Given the description of an element on the screen output the (x, y) to click on. 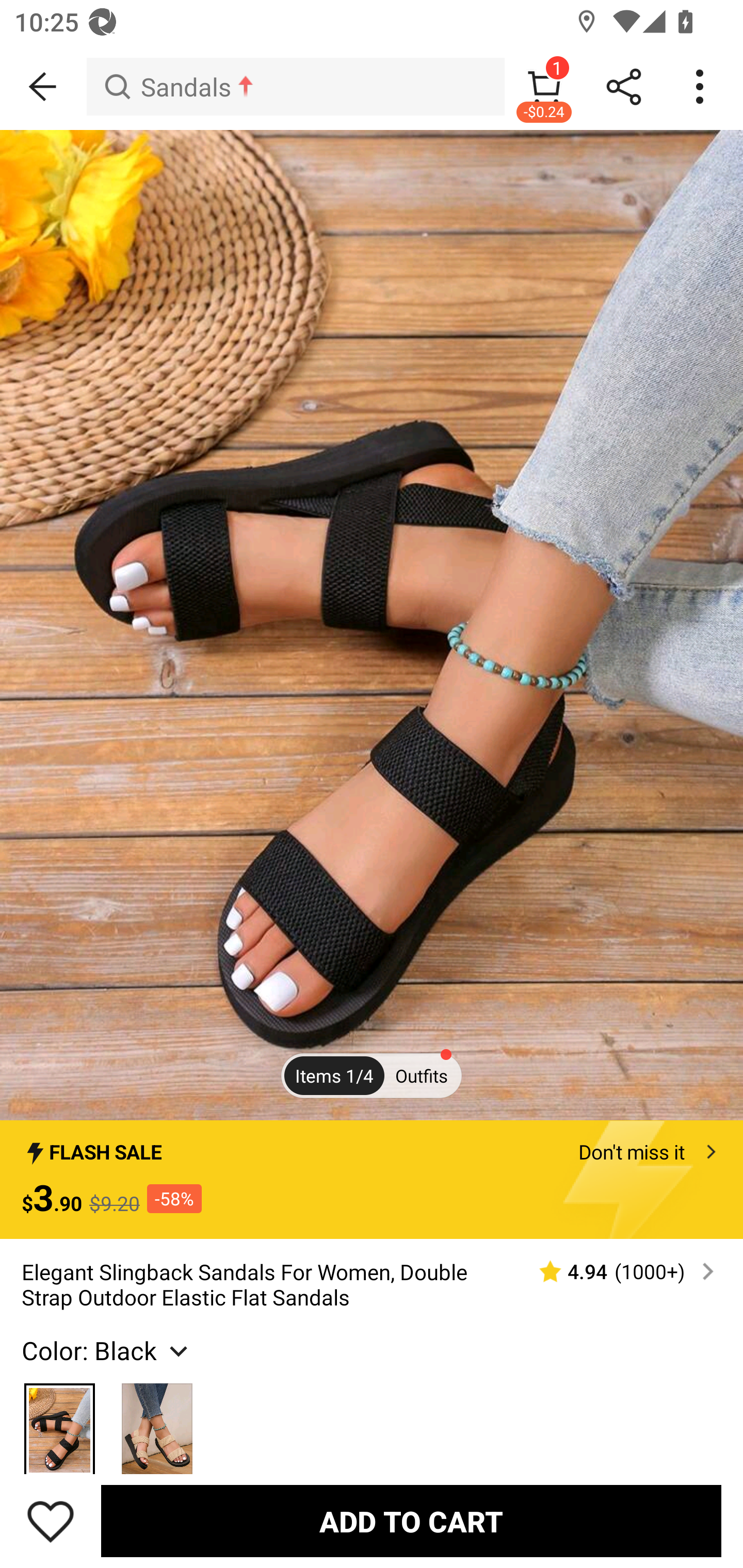
BACK (43, 86)
1 -$0.24 (543, 87)
Sandals (295, 87)
Items 1/4 (334, 1075)
Outfits (421, 1075)
FLASH SALE Don't miss it $3.90 $9.20 -58% (371, 1178)
FLASH SALE Don't miss it (371, 1145)
4.94 (1000‎+) (617, 1271)
Color: Black (107, 1349)
Black (59, 1420)
Khaki (156, 1420)
ADD TO CART (411, 1520)
Save (50, 1520)
